Given the description of an element on the screen output the (x, y) to click on. 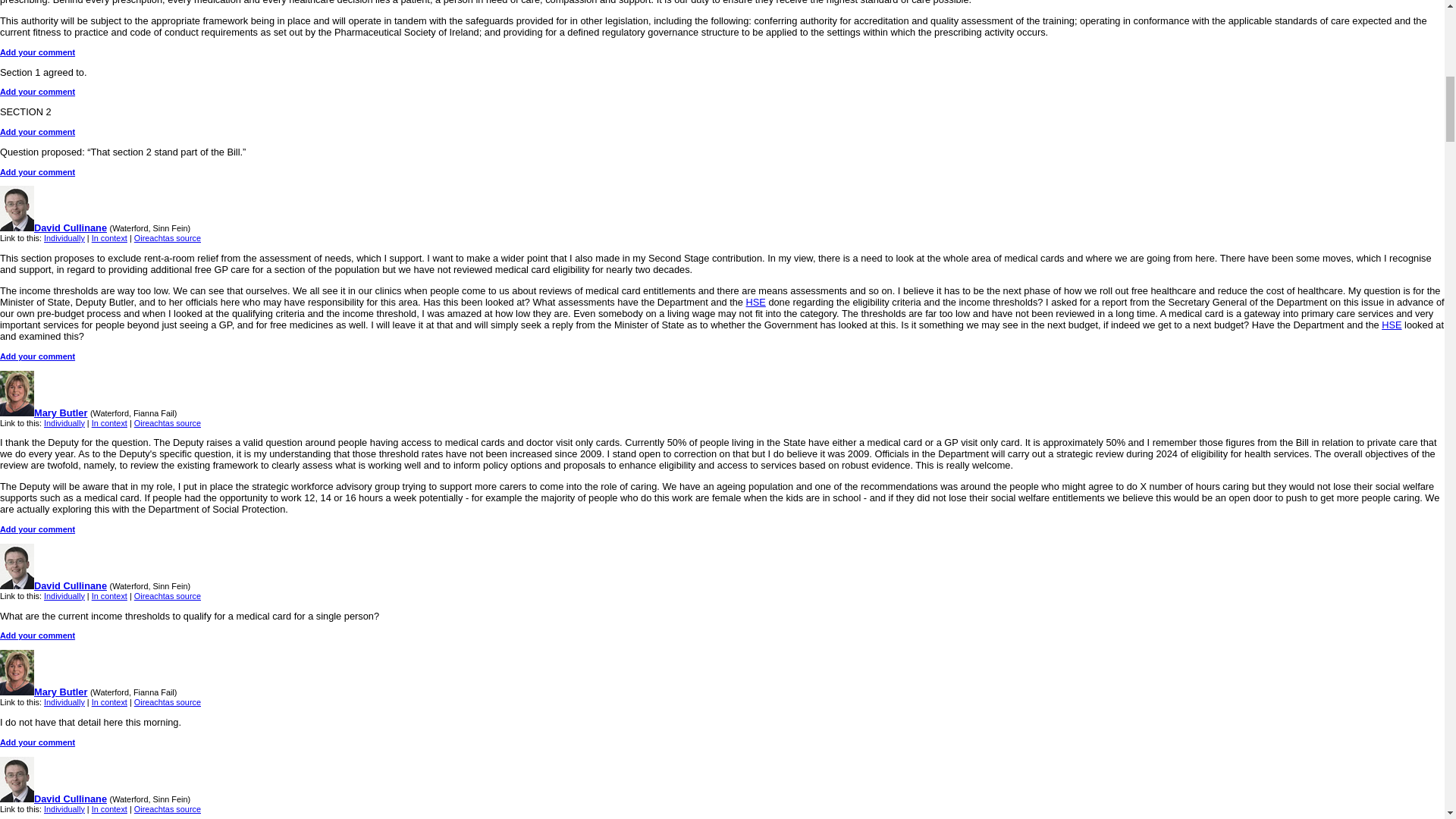
In context (109, 237)
David Cullinane (53, 227)
HSE (1390, 324)
Comment on this (37, 91)
Add your comment (37, 131)
Individually (63, 237)
Add your comment (37, 171)
Add your comment (37, 51)
Comment on this (37, 51)
Oireachtas source (166, 237)
HSE (755, 301)
Add your comment (37, 91)
